Given the description of an element on the screen output the (x, y) to click on. 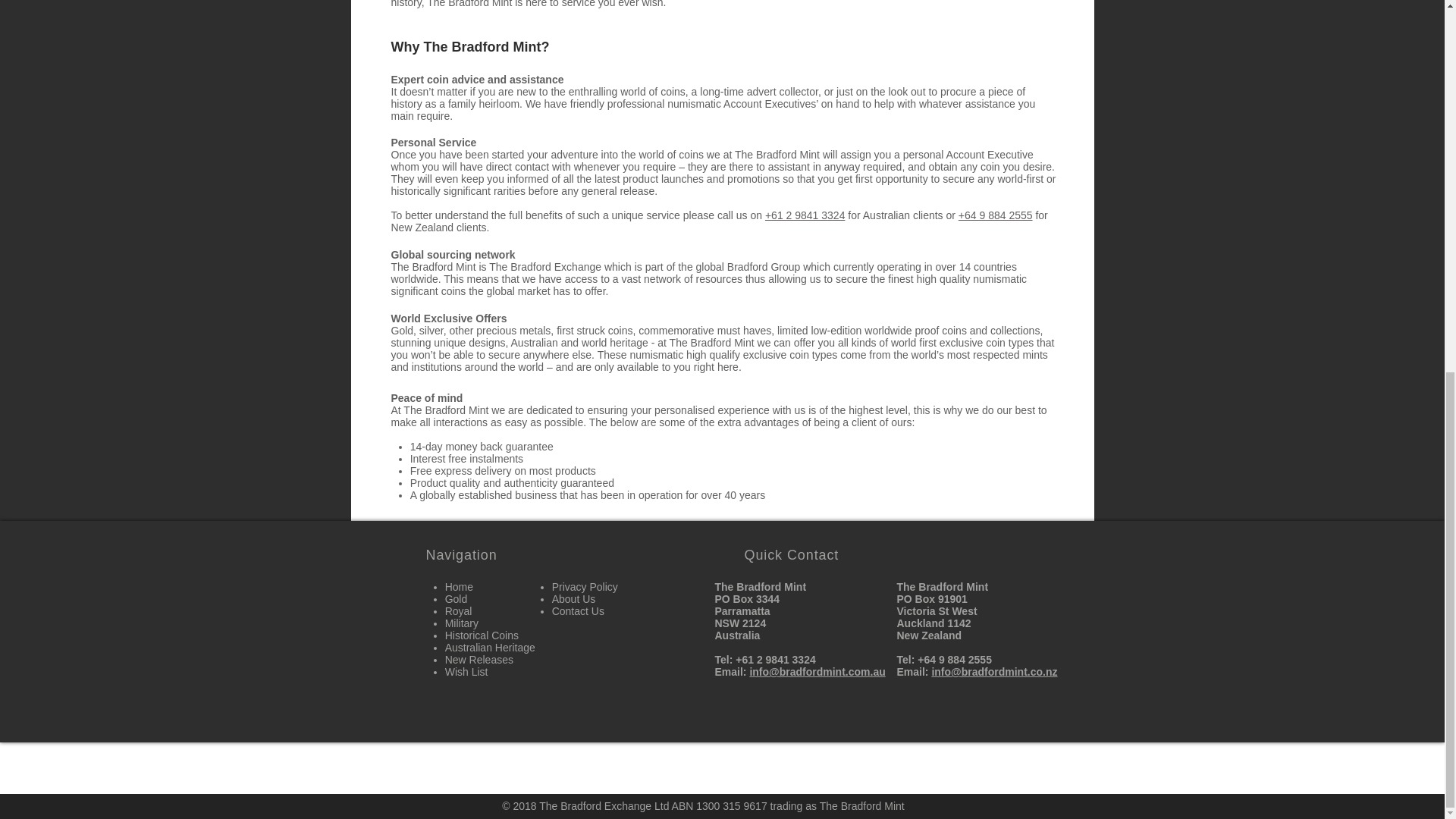
Military (462, 623)
About Us (573, 598)
Australian Heritage (490, 647)
Privacy Policy (584, 586)
Home (459, 586)
Royal (458, 611)
Wish List (466, 671)
New Releases (479, 659)
Gold (456, 598)
Historical Coins (481, 635)
Contact Us (577, 611)
